Given the description of an element on the screen output the (x, y) to click on. 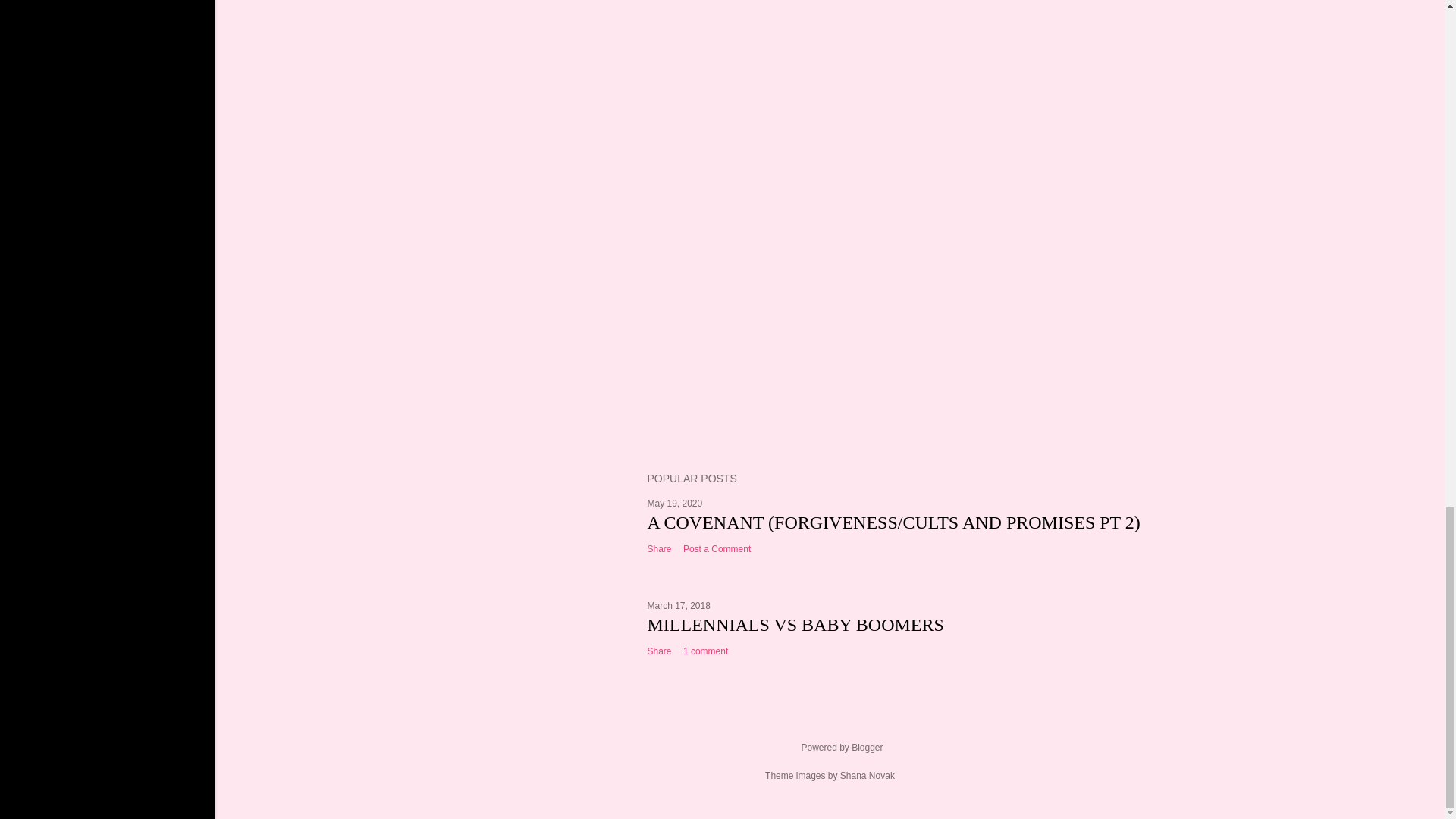
MILLENNIALS VS BABY BOOMERS (795, 624)
Share (659, 548)
March 17, 2018 (678, 605)
Post a Comment (716, 548)
Share (659, 651)
May 19, 2020 (675, 502)
permanent link (675, 502)
Advertisement (905, 327)
Shana Novak (867, 775)
1 comment (705, 651)
